Given the description of an element on the screen output the (x, y) to click on. 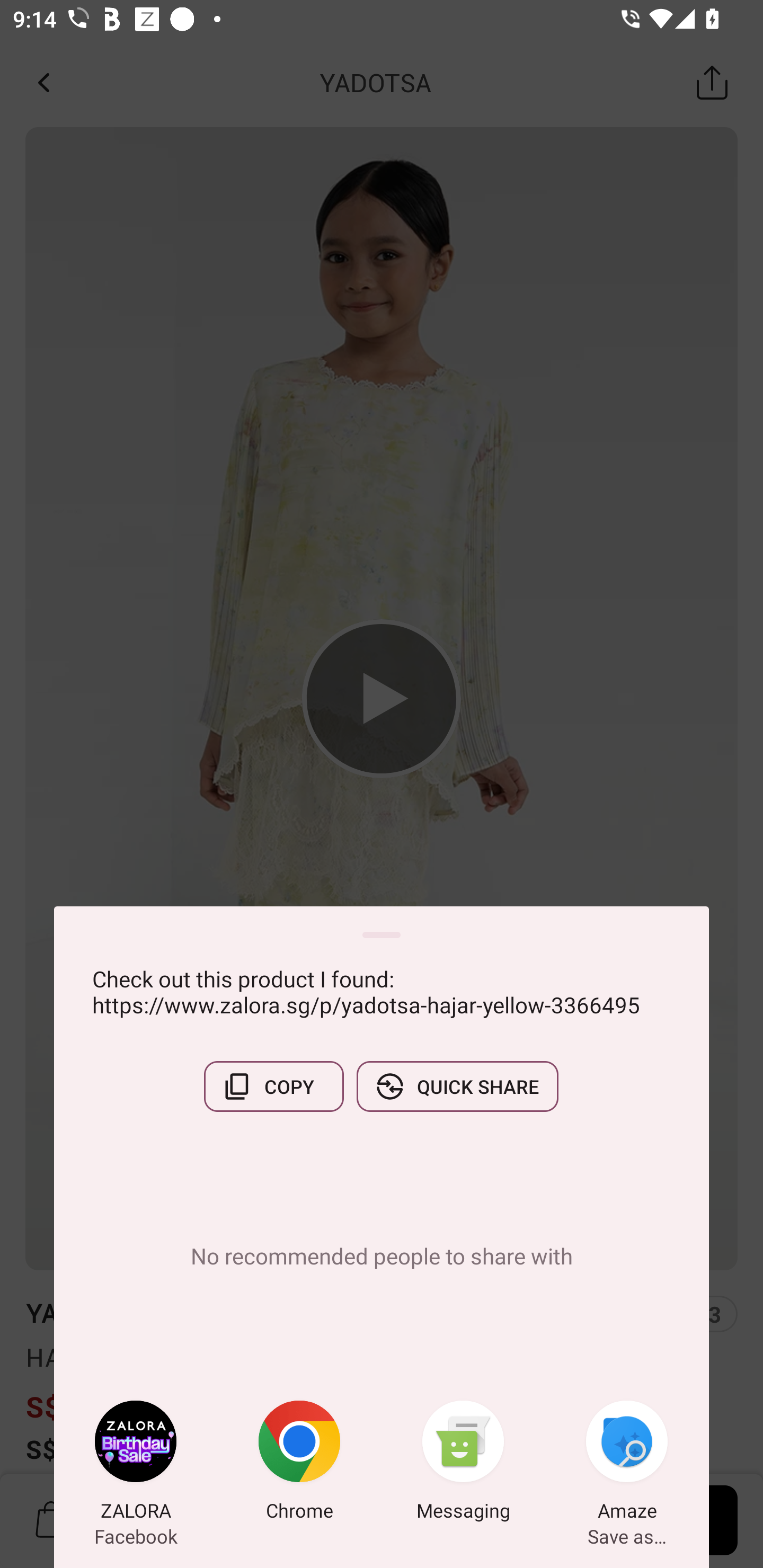
COPY (273, 1086)
QUICK SHARE (457, 1086)
ZALORA Facebook (135, 1463)
Chrome (299, 1463)
Messaging (463, 1463)
Amaze Save as… (626, 1463)
